Given the description of an element on the screen output the (x, y) to click on. 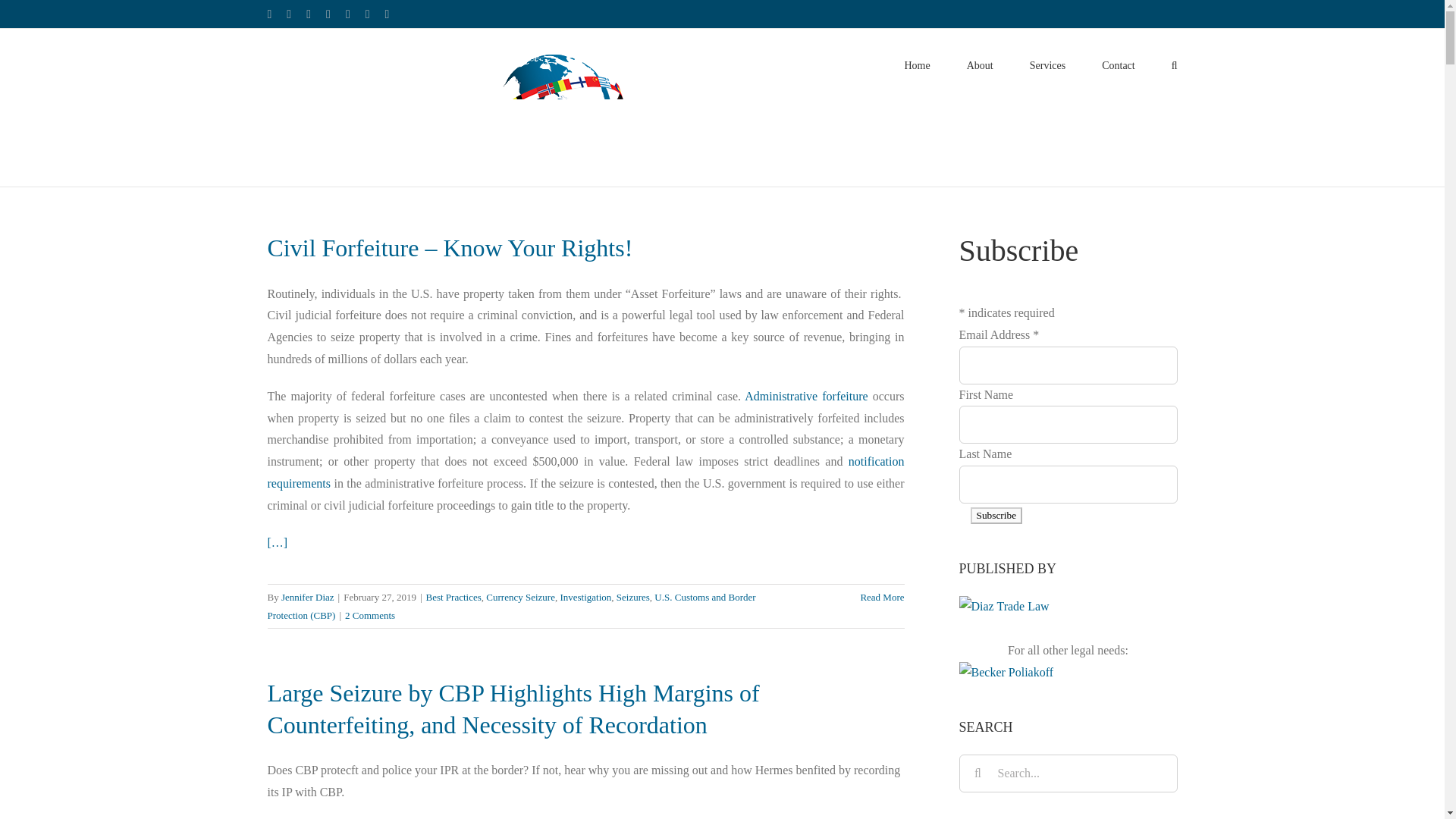
notification requirements (585, 472)
Administrative forfeiture (805, 395)
Best Practices (453, 596)
Investigation (585, 596)
Posts by Jennifer Diaz (307, 596)
Read More (882, 596)
Seizures (632, 596)
Subscribe (997, 515)
Currency Seizure (520, 596)
